Given the description of an element on the screen output the (x, y) to click on. 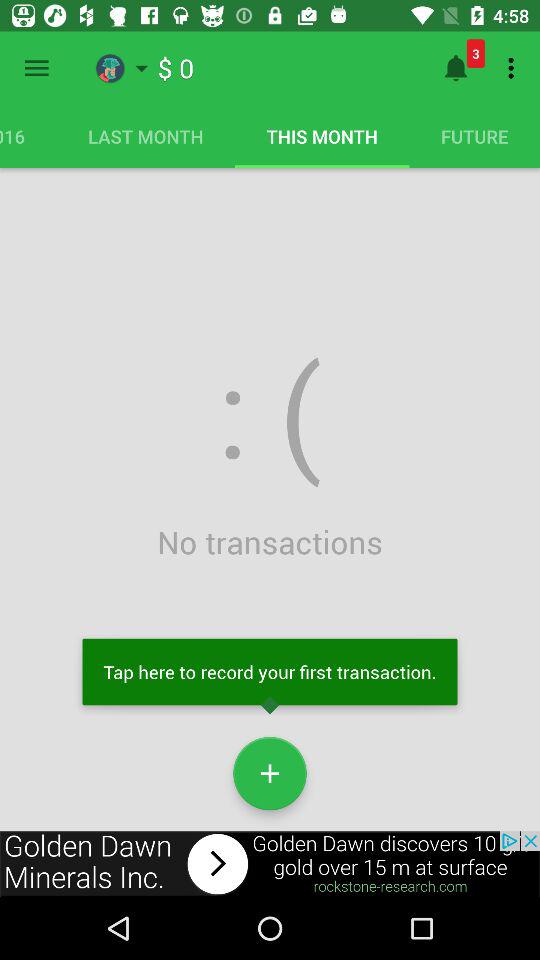
advertisement banner (270, 864)
